Given the description of an element on the screen output the (x, y) to click on. 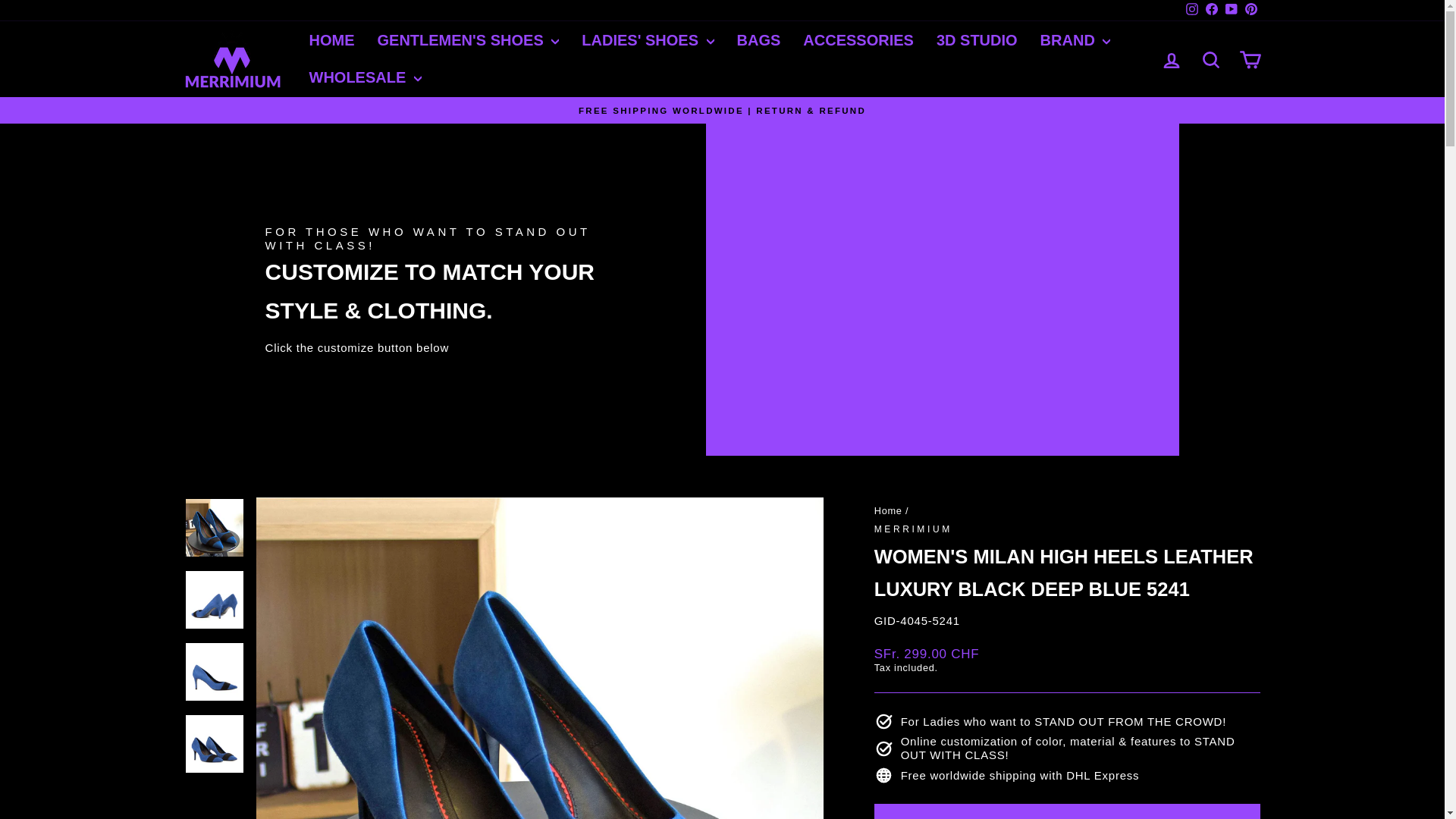
MERRIMIUM on YouTube (1230, 10)
MERRIMIUM on Instagram (1190, 10)
ICON-SEARCH (1210, 59)
Back to the frontpage (888, 510)
ACCOUNT (1170, 60)
MERRIMIUM on Facebook (1211, 10)
MERRIMIUM (913, 529)
MERRIMIUM on Pinterest (1250, 10)
instagram (1192, 9)
